Given the description of an element on the screen output the (x, y) to click on. 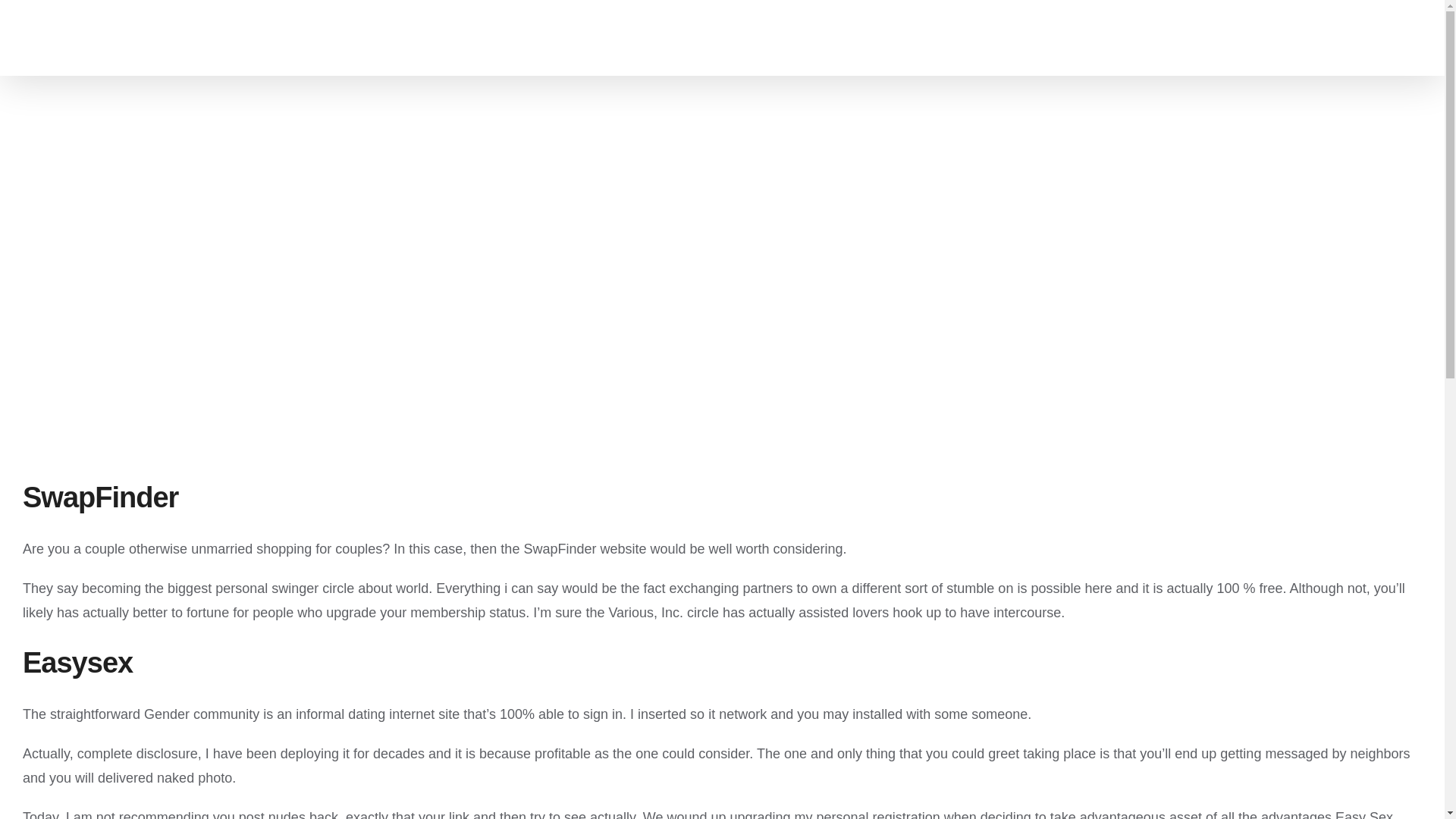
Comment vous aider ? (768, 38)
Paroles de nos clients (1010, 38)
Accueil (473, 38)
Prise en charge (1141, 38)
